Given the description of an element on the screen output the (x, y) to click on. 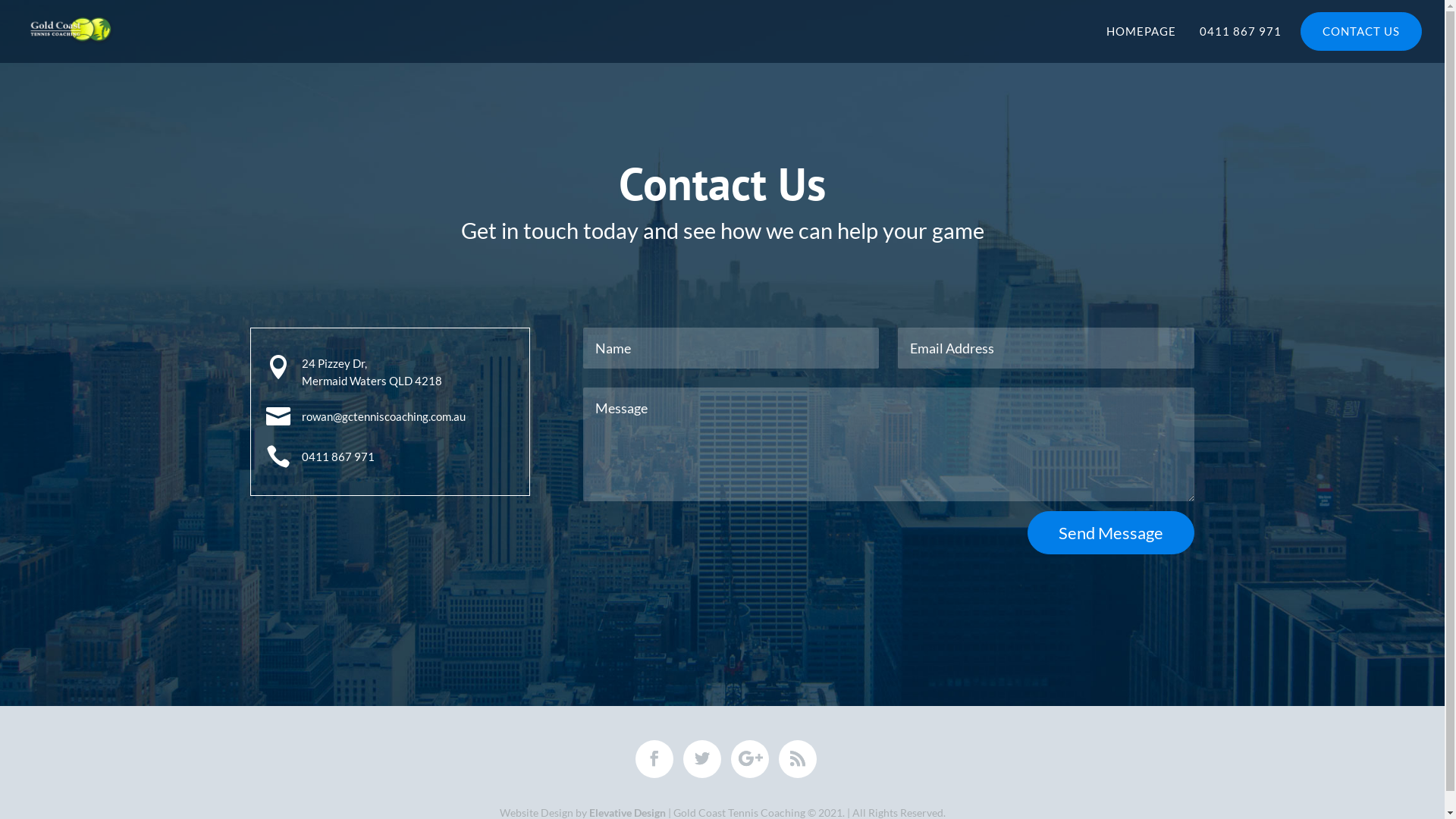
0411 867 971 Element type: text (1238, 33)
Send Message Element type: text (1110, 532)
HOMEPAGE Element type: text (1141, 30)
CONTACT US Element type: text (1361, 33)
